Given the description of an element on the screen output the (x, y) to click on. 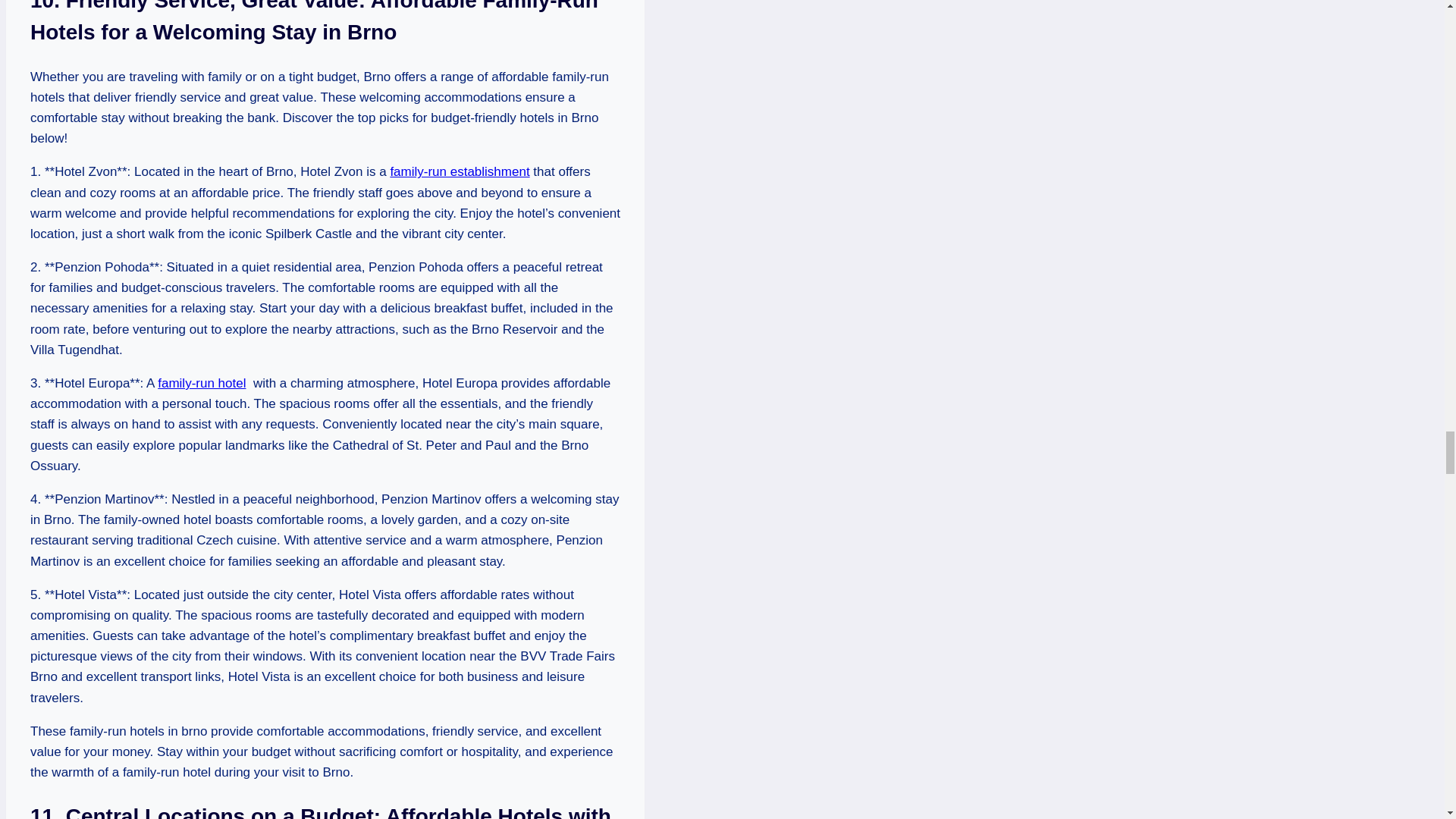
family-run hotel (201, 382)
Best 10 Hotels in Brno: Your Ultimate Comfort Guide (201, 382)
7 Best Kebab Brno: Satisfy Your Taste Buds (459, 171)
family-run establishment (459, 171)
